Given the description of an element on the screen output the (x, y) to click on. 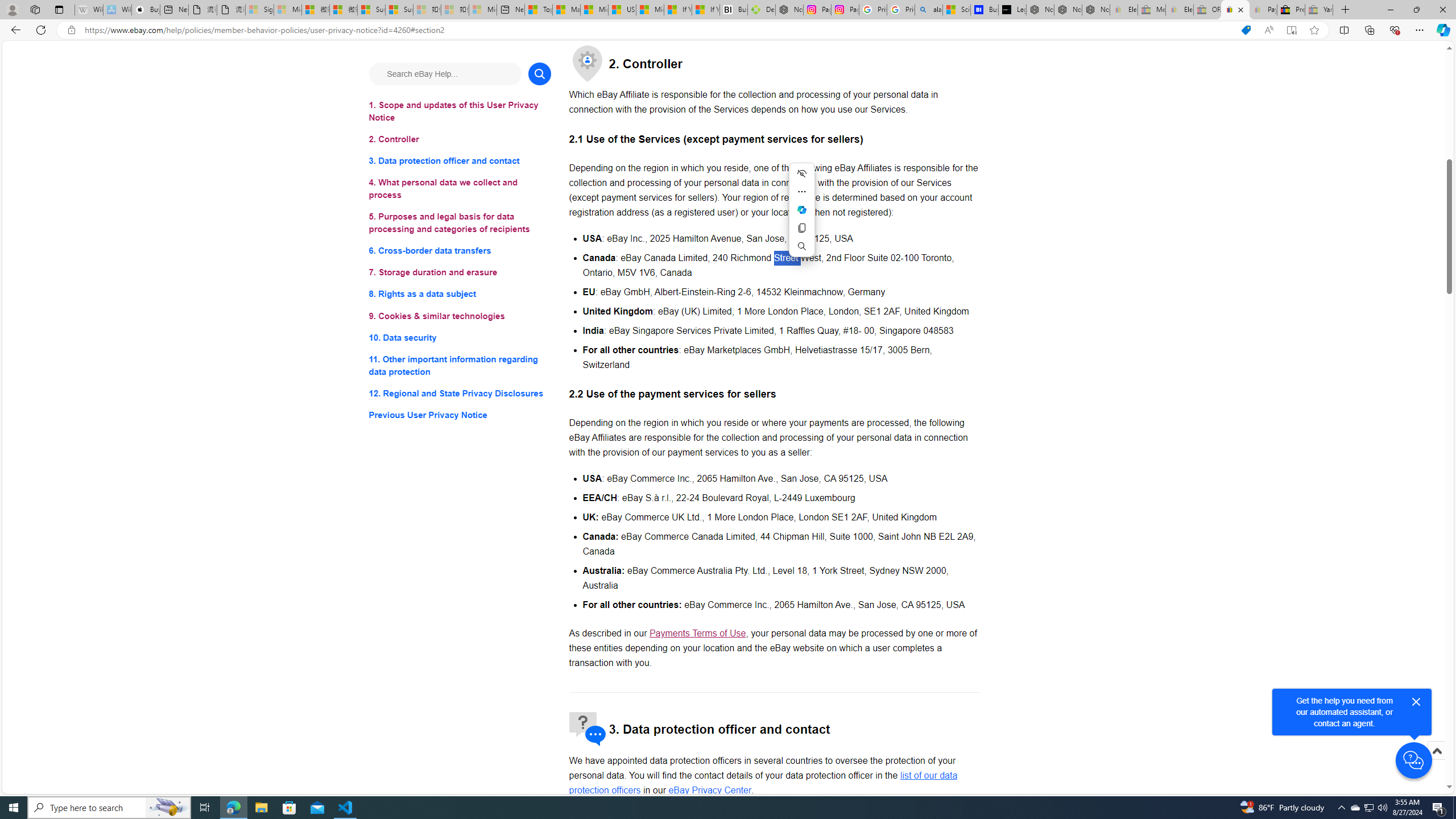
3. Data protection officer and contact (459, 160)
More actions (801, 191)
Scroll to top (1435, 750)
6. Cross-border data transfers (459, 250)
Previous User Privacy Notice (459, 414)
